Given the description of an element on the screen output the (x, y) to click on. 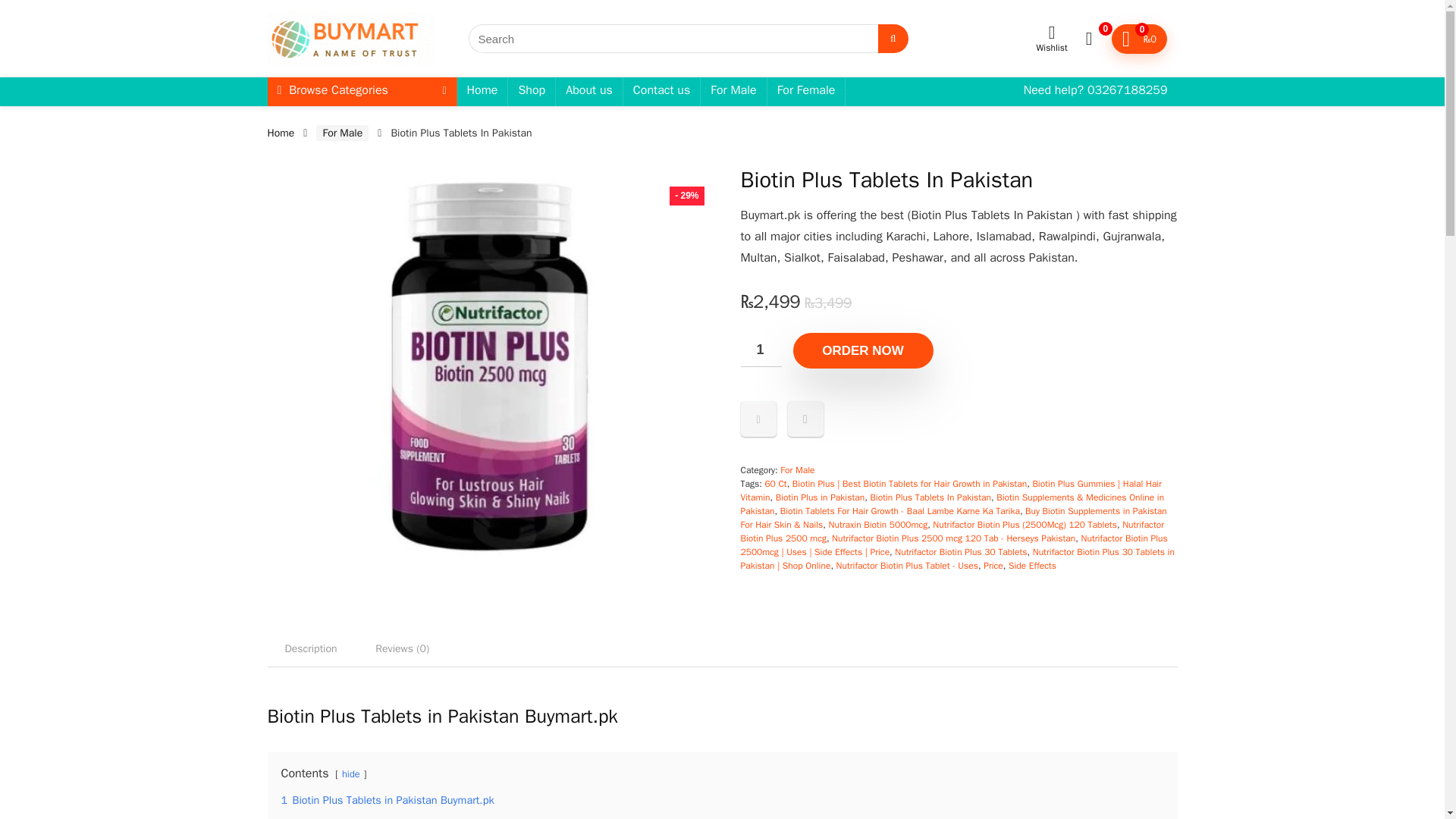
ORDER NOW (863, 350)
For Male (796, 469)
1 (759, 349)
Shop (531, 91)
Biotin Plus Tablets In Pakistan (930, 497)
For Male (341, 132)
About us (589, 91)
Biotin Tablets For Hair Growth - Baal Lambe Karne Ka Tarika (900, 510)
60 Ct (775, 483)
